Given the description of an element on the screen output the (x, y) to click on. 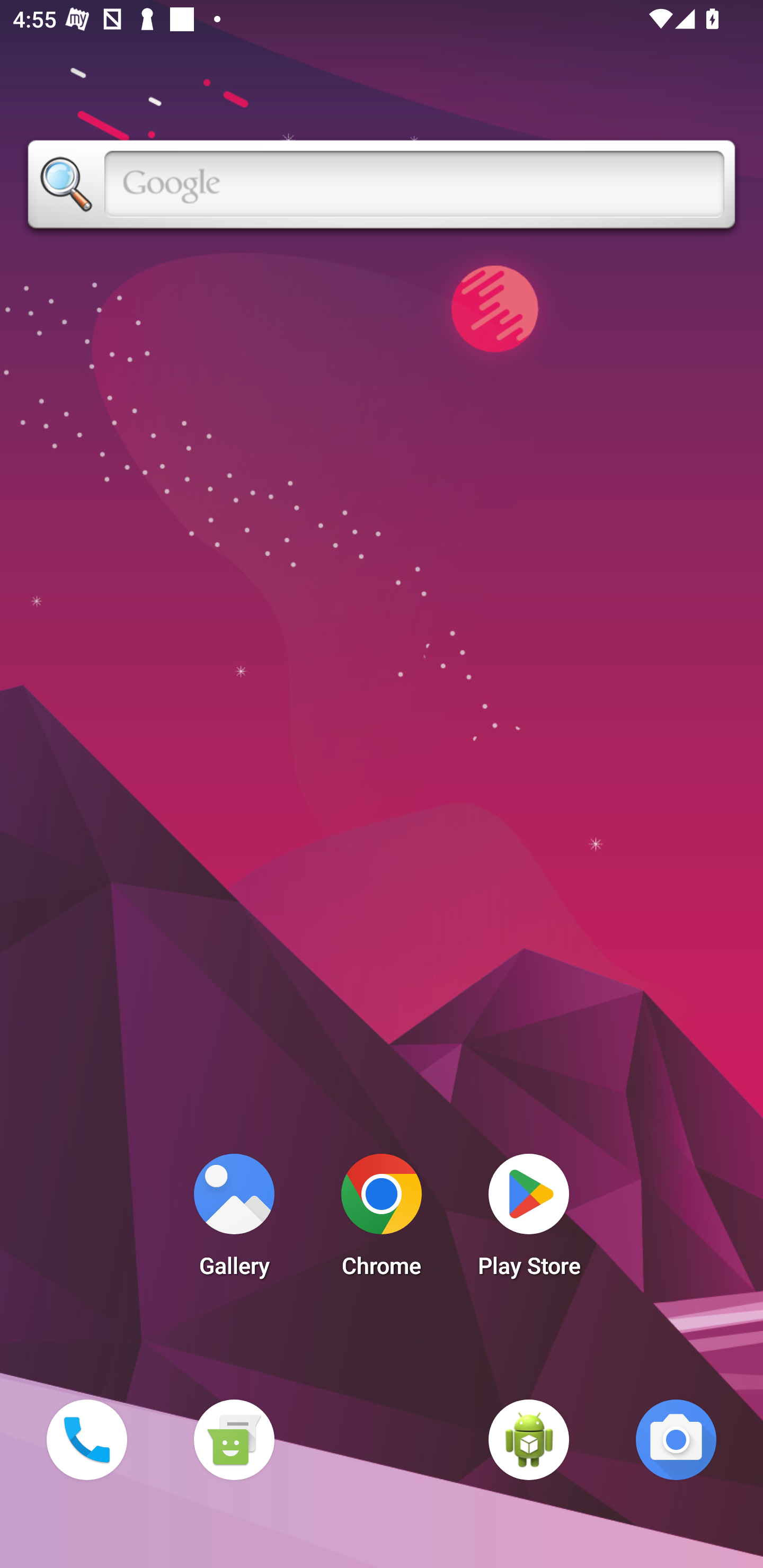
Gallery (233, 1220)
Chrome (381, 1220)
Play Store (528, 1220)
Phone (86, 1439)
Messaging (233, 1439)
WebView Browser Tester (528, 1439)
Camera (676, 1439)
